Given the description of an element on the screen output the (x, y) to click on. 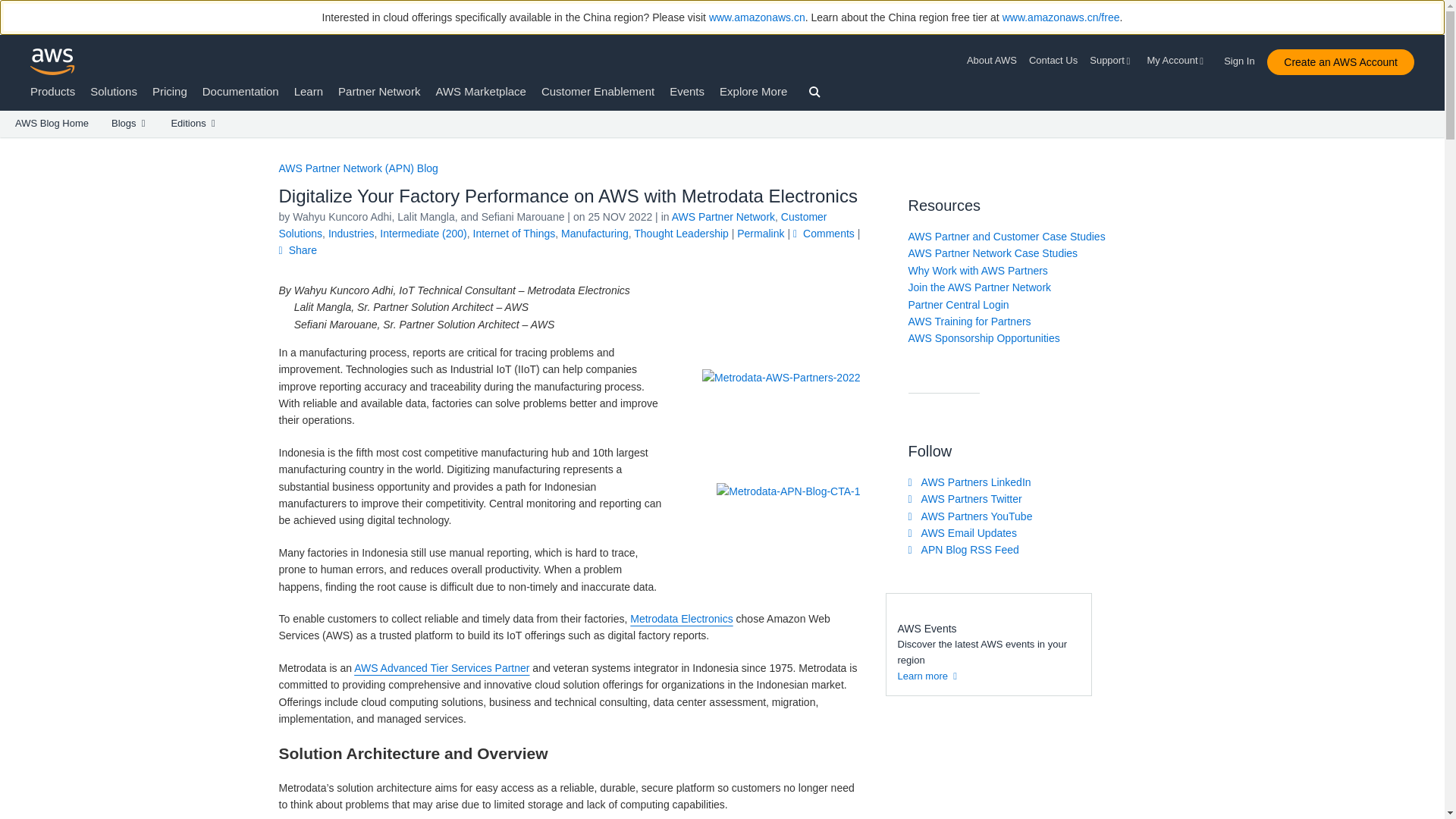
Solutions (113, 91)
Learn (308, 91)
Products (52, 91)
View all posts in Industries (351, 233)
Explore More (753, 91)
Pricing (169, 91)
View all posts in Thought Leadership (681, 233)
Contact Us (1053, 60)
Partner Network (378, 91)
Sign In (1243, 58)
